Given the description of an element on the screen output the (x, y) to click on. 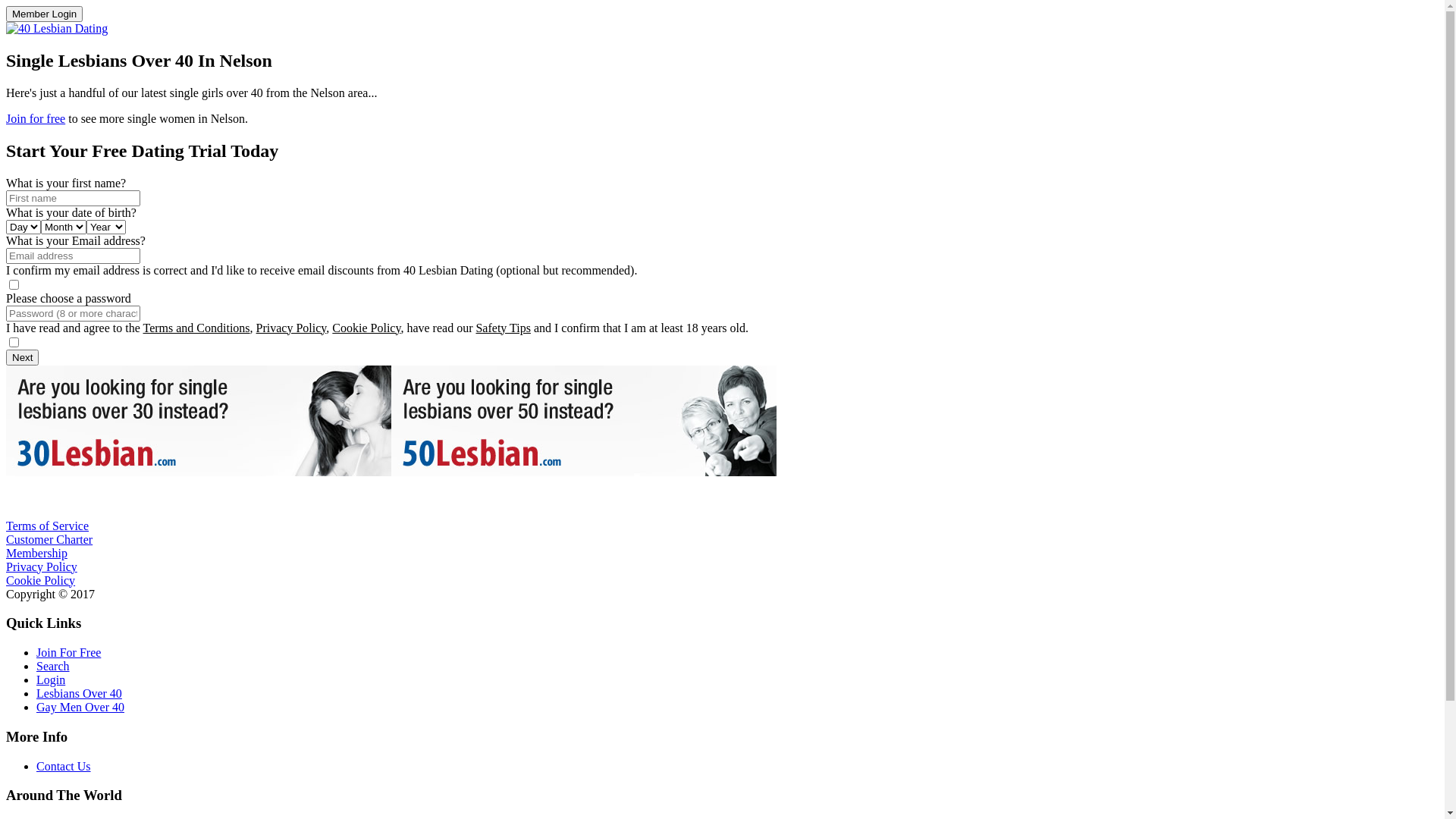
Login Element type: text (50, 679)
Cookie Policy Element type: text (40, 580)
Next Element type: text (22, 357)
Search Element type: text (52, 665)
Privacy Policy Element type: text (41, 566)
Privacy Policy Element type: text (291, 327)
Member Login Element type: text (44, 13)
Terms of Service Element type: text (47, 525)
Contact Us Element type: text (63, 765)
Join for free Element type: text (35, 118)
Terms and Conditions Element type: text (195, 327)
Join For Free Element type: text (68, 652)
Safety Tips Element type: text (502, 327)
Cookie Policy Element type: text (366, 327)
Membership Element type: text (36, 552)
Lesbians Over 40 Element type: text (79, 693)
Member Login Element type: text (44, 12)
Gay Men Over 40 Element type: text (80, 706)
Customer Charter Element type: text (49, 539)
